Given the description of an element on the screen output the (x, y) to click on. 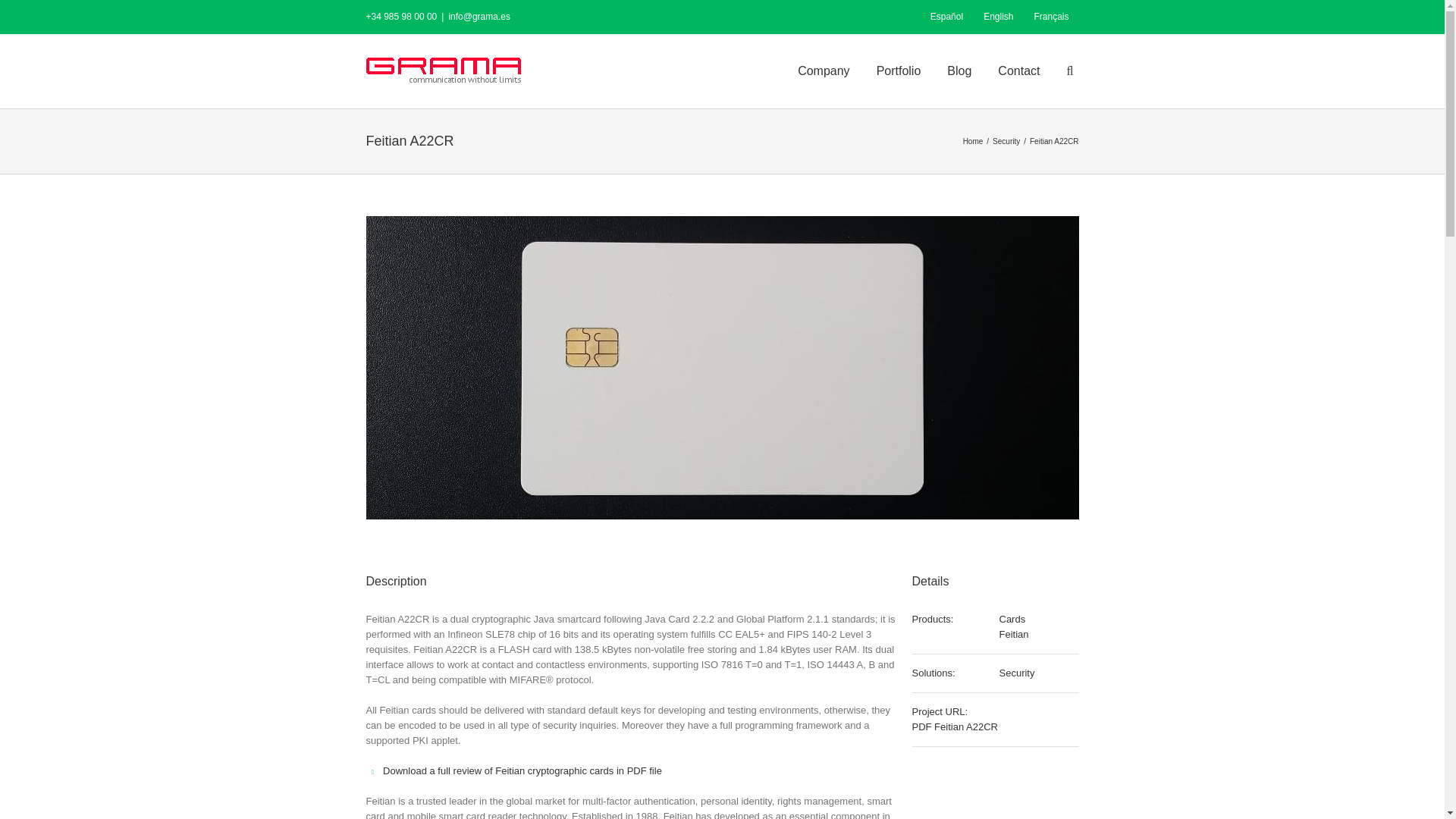
English (998, 16)
Security (1016, 672)
Cards (1012, 618)
PDF Feitian A22CR (954, 726)
English (998, 16)
Feitian (1013, 633)
